Given the description of an element on the screen output the (x, y) to click on. 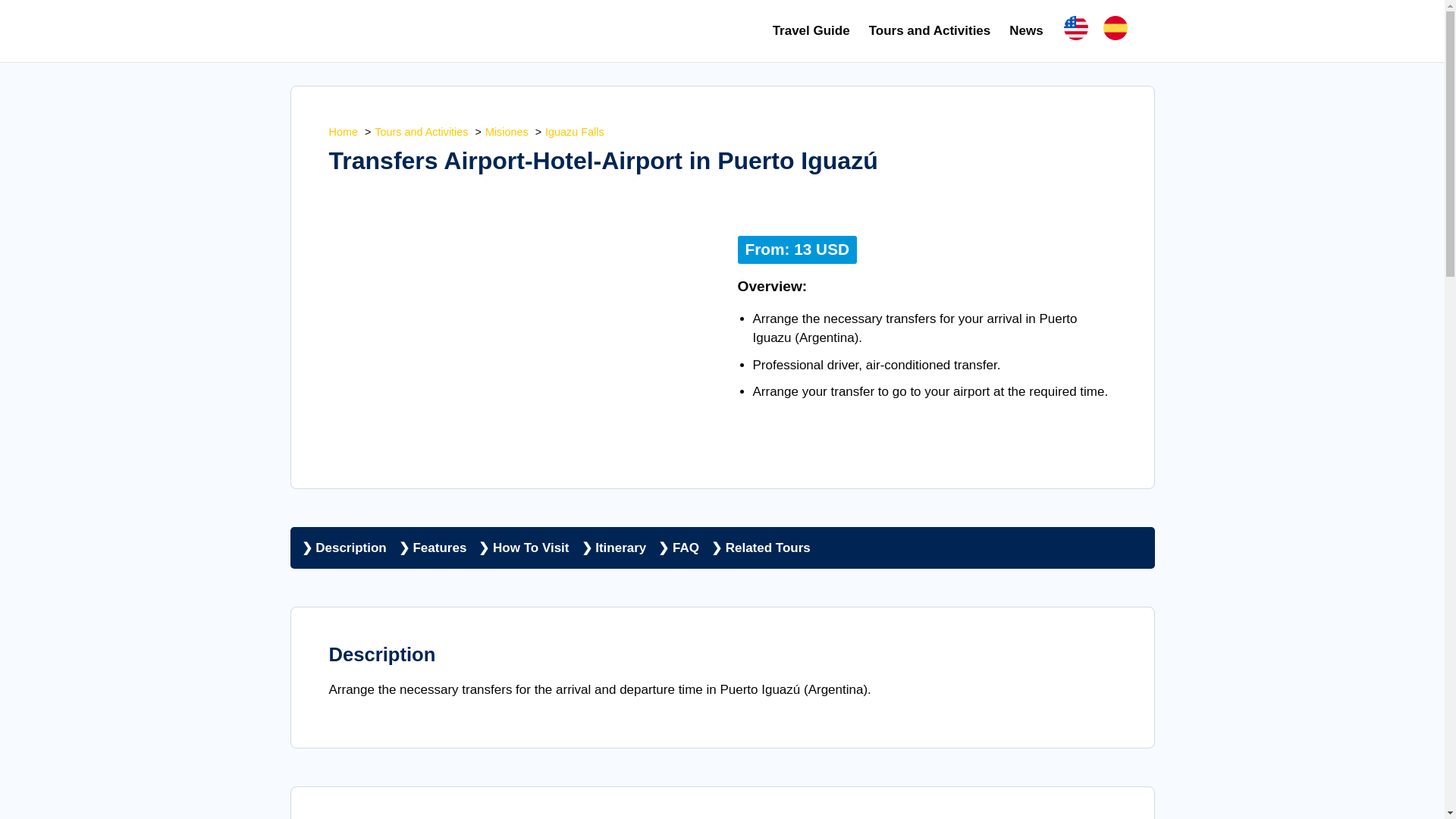
Tours and Activities (930, 30)
News (1025, 30)
Home (343, 132)
Misiones (506, 132)
Travel Guide (811, 30)
Iguazu Falls (574, 132)
Tours and Activities (420, 132)
